Given the description of an element on the screen output the (x, y) to click on. 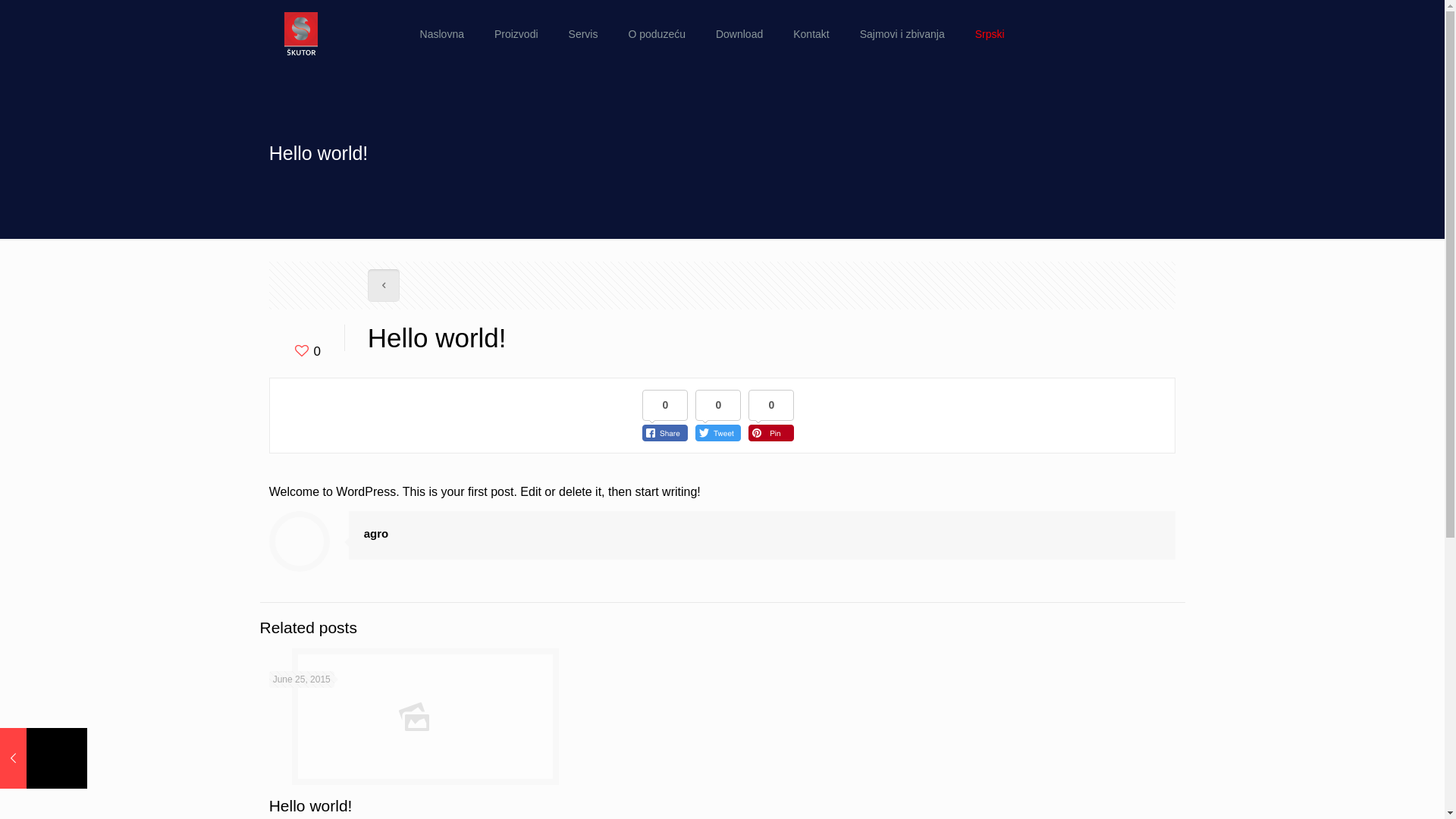
Hello world! Element type: text (310, 805)
0 Element type: text (305, 351)
Proizvodi Element type: text (516, 34)
Servis Element type: text (583, 34)
agro Element type: text (376, 533)
Srpski Element type: text (989, 34)
Skutor Element type: hover (300, 34)
Naslovna Element type: text (441, 34)
Download Element type: text (739, 34)
Kontakt Element type: text (811, 34)
Sajmovi i zbivanja Element type: text (902, 34)
